Given the description of an element on the screen output the (x, y) to click on. 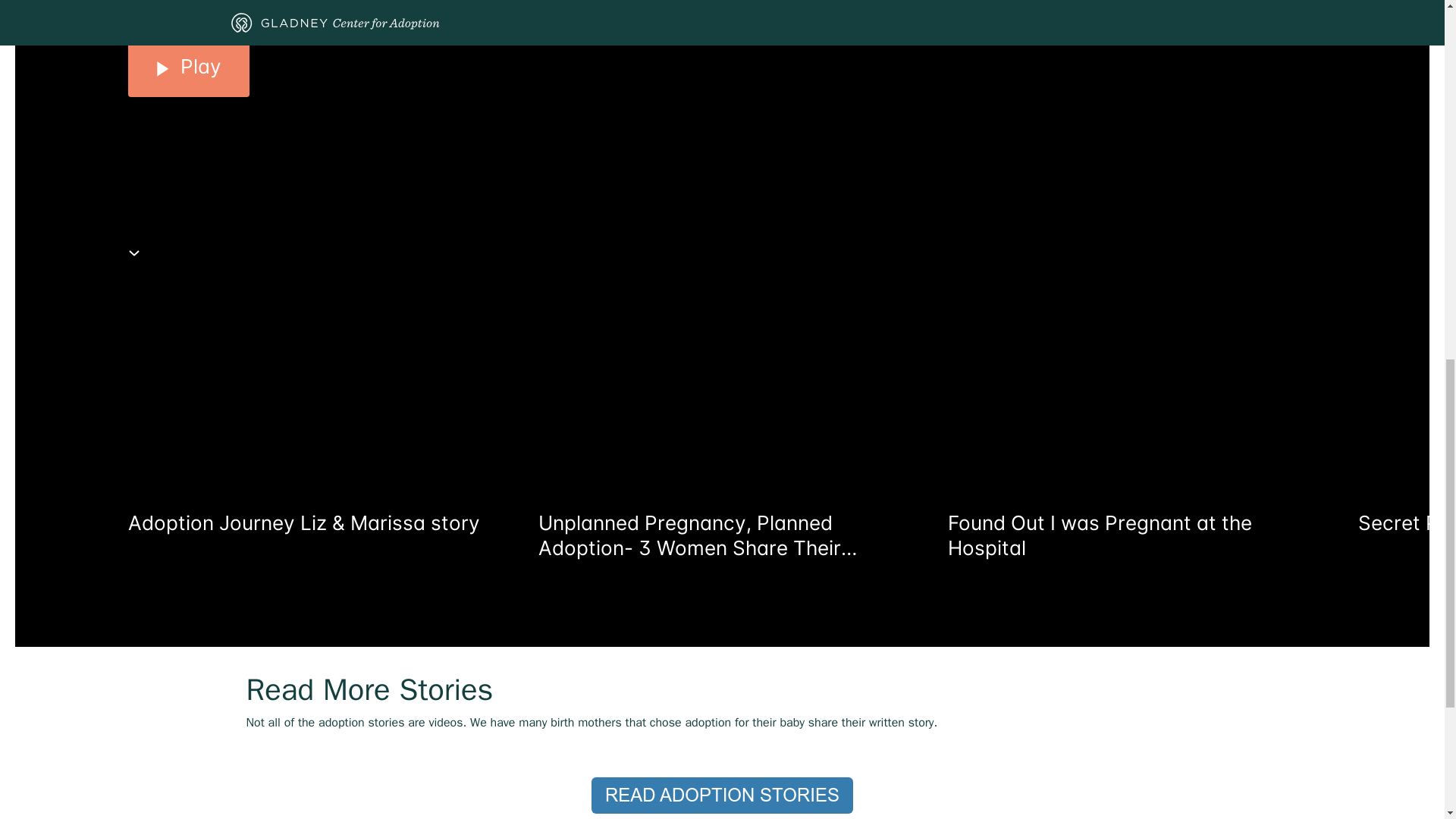
Found Out I was Pregnant at the Hospital (1124, 461)
Play (188, 67)
Found Out I was Pregnant at the Hospital (1124, 535)
